Given the description of an element on the screen output the (x, y) to click on. 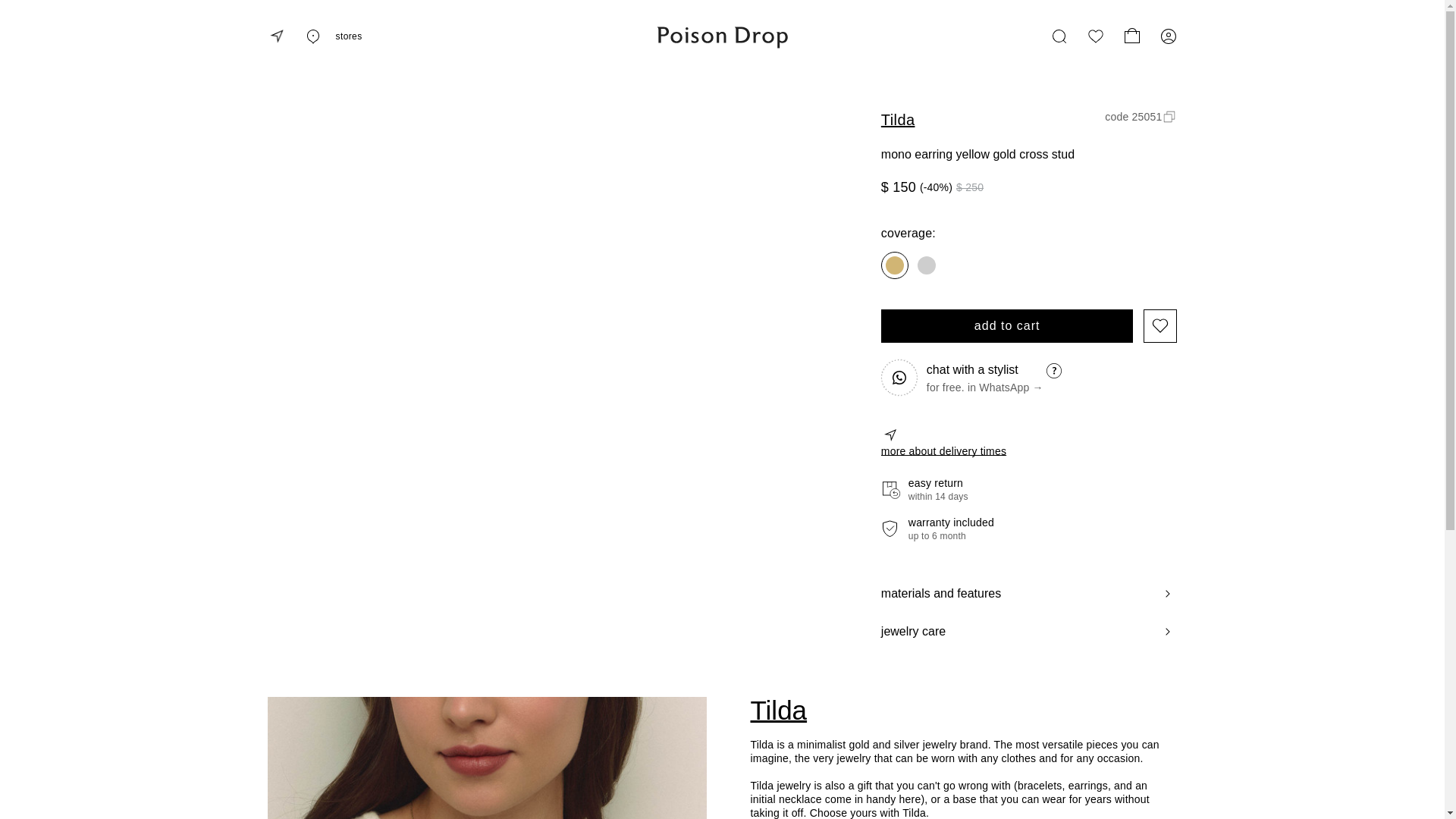
Tilda (897, 119)
stores (331, 36)
Tilda (958, 709)
code 25051 (1140, 116)
add to cart (1007, 326)
